Given the description of an element on the screen output the (x, y) to click on. 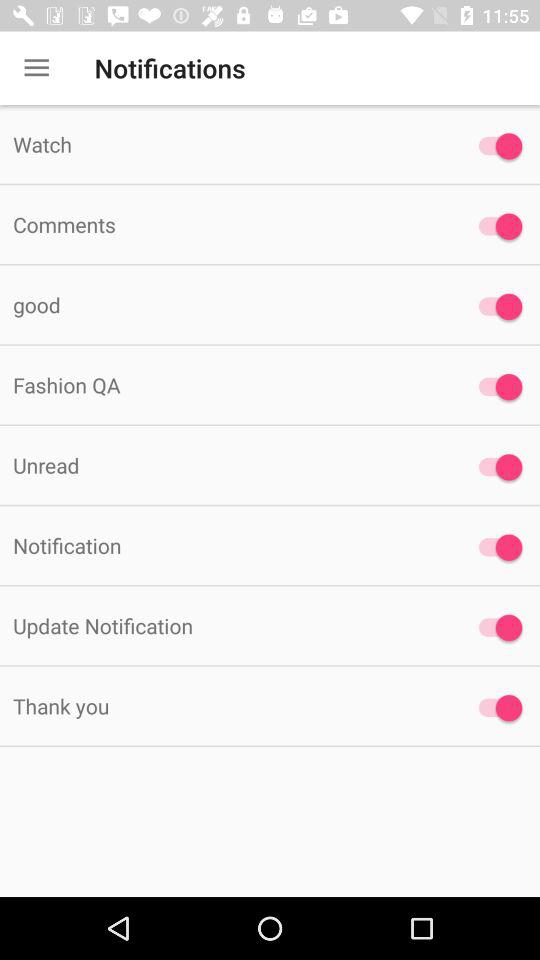
toggle fashion qa (495, 387)
